Given the description of an element on the screen output the (x, y) to click on. 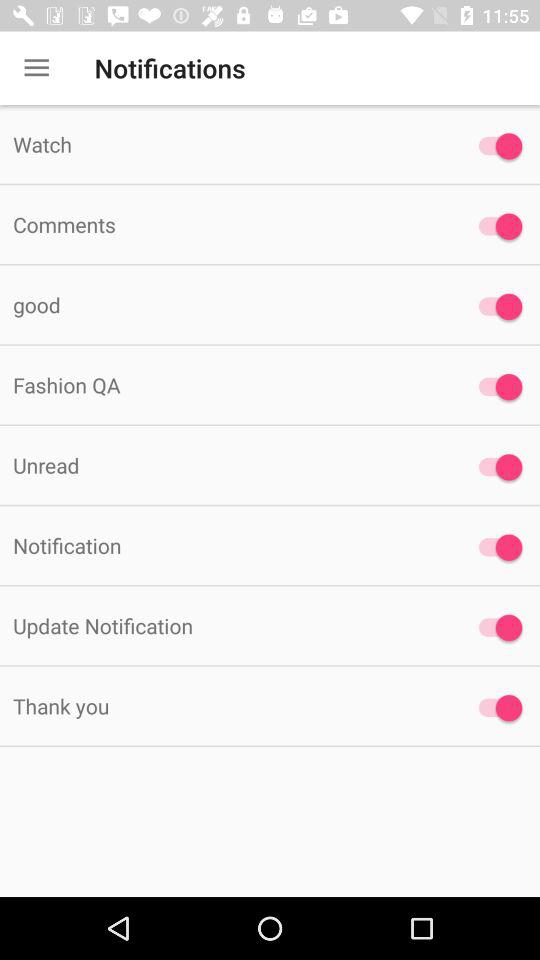
toggle fashion qa (495, 387)
